Given the description of an element on the screen output the (x, y) to click on. 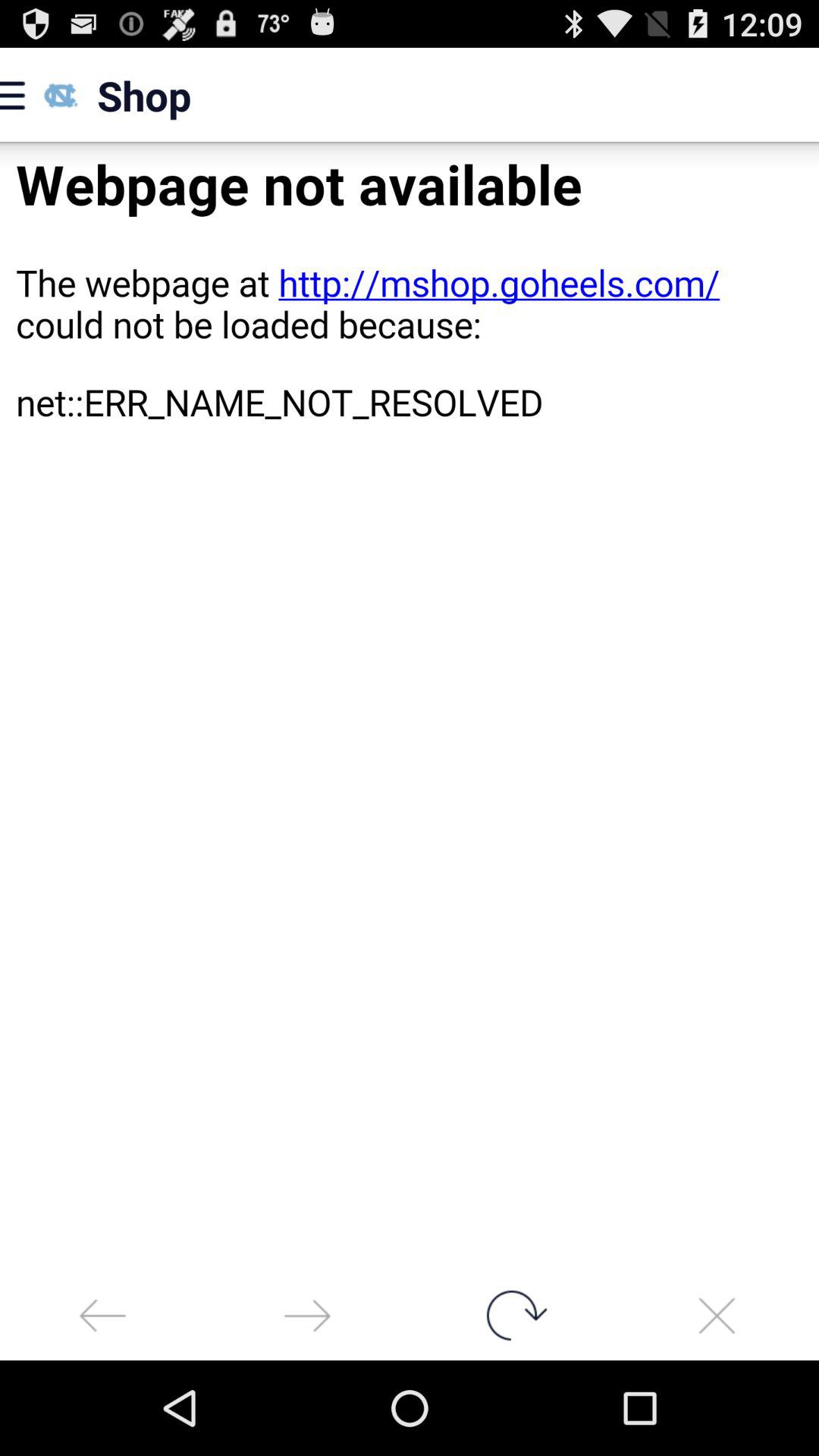
error (409, 706)
